Given the description of an element on the screen output the (x, y) to click on. 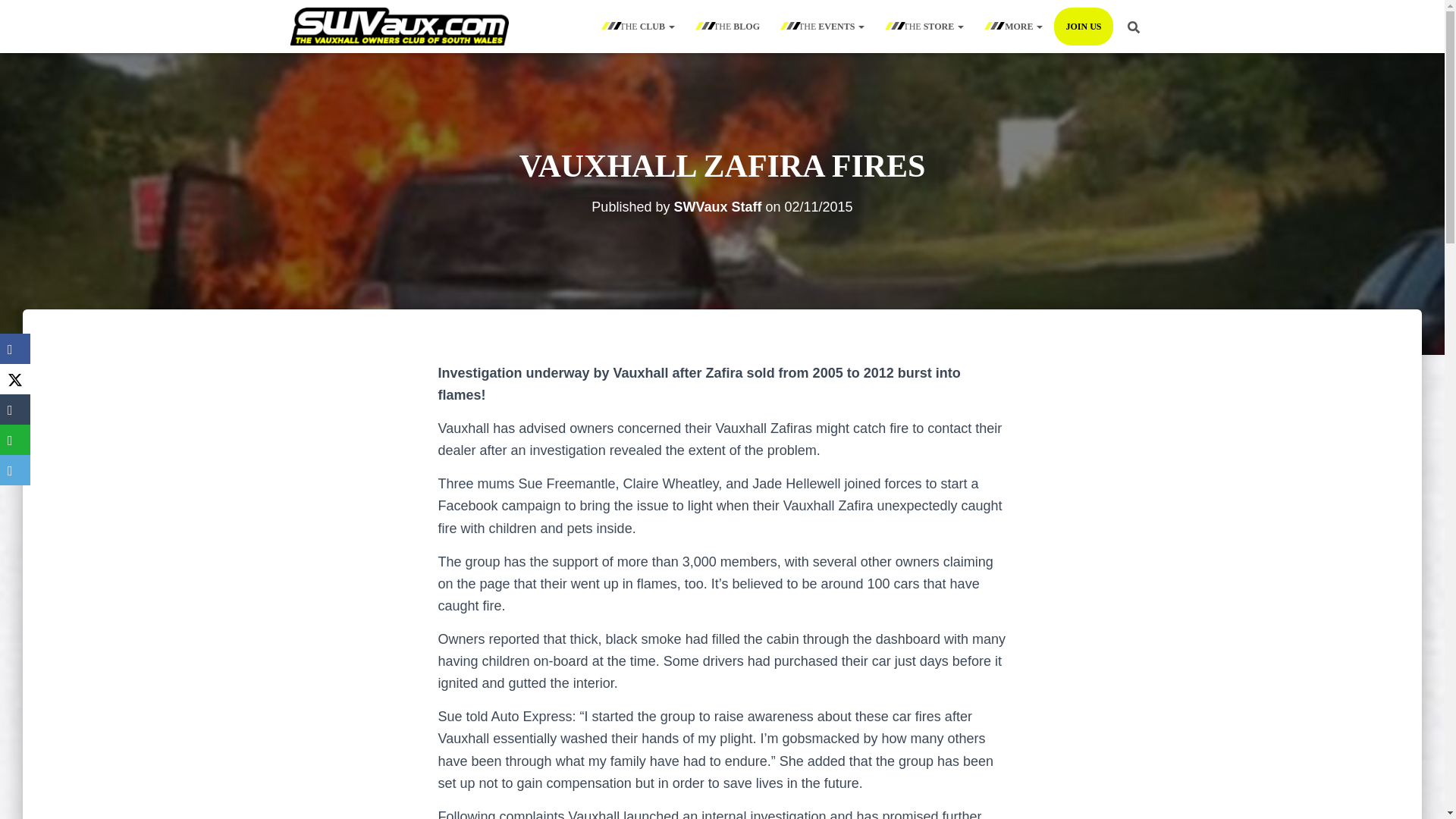
The Events (823, 26)
The Blog (728, 26)
SWVaux.com (399, 26)
THE BLOG (728, 26)
MORE (1014, 26)
JOIN US (1083, 26)
THE EVENTS (823, 26)
The Club (638, 26)
SWVaux Staff (716, 206)
The Store (925, 26)
THE CLUB (638, 26)
THE STORE (925, 26)
